Given the description of an element on the screen output the (x, y) to click on. 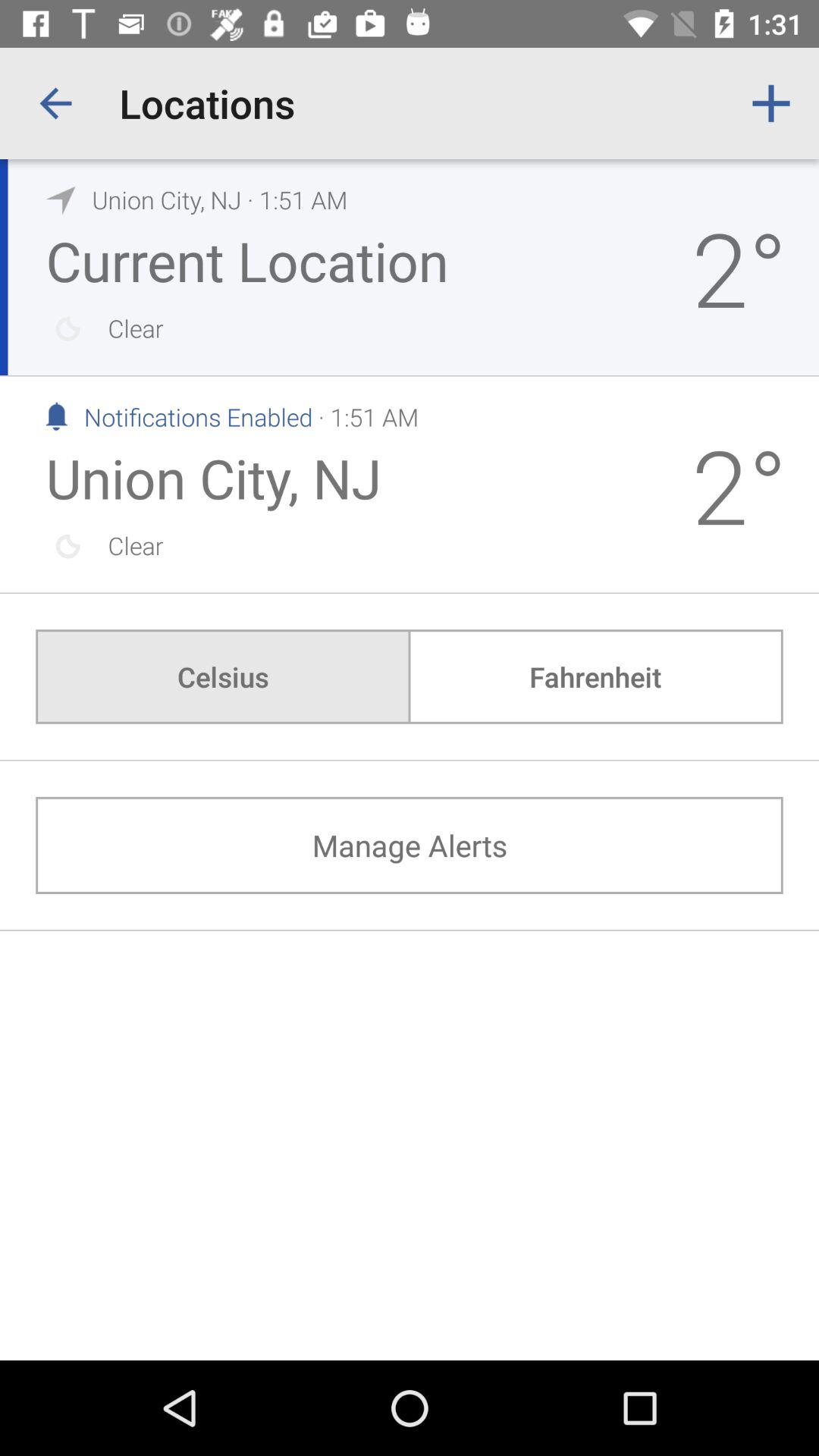
turn on the icon above the manage alerts icon (223, 676)
